Given the description of an element on the screen output the (x, y) to click on. 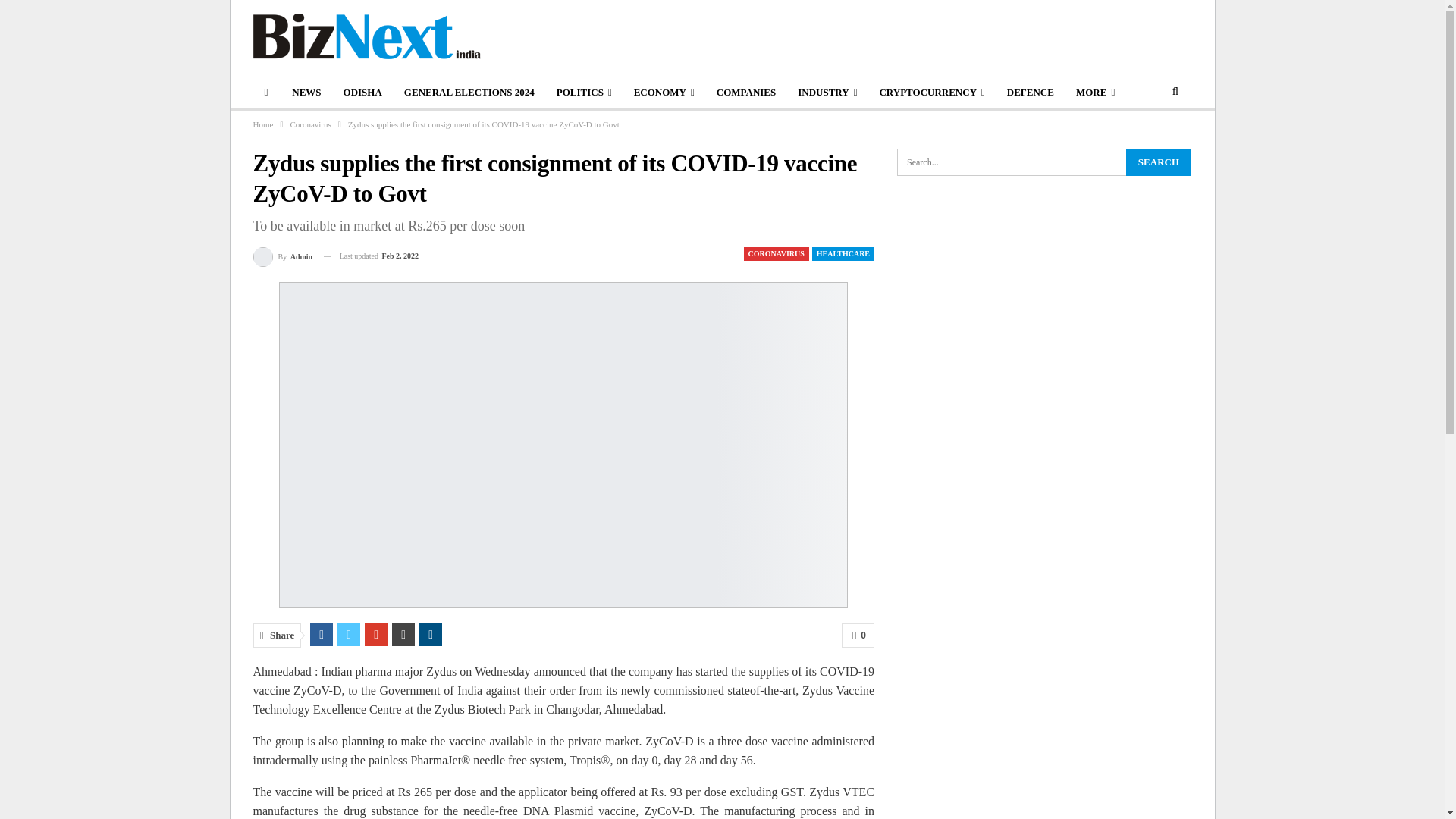
0 (858, 635)
Coronavirus (309, 124)
Search (1158, 162)
Browse Author Articles (283, 256)
COMPANIES (745, 92)
By Admin (283, 256)
CRYPTOCURRENCY (930, 92)
HEALTHCARE (843, 254)
Home (263, 124)
MORE (1095, 92)
ECONOMY (663, 92)
POLITICS (584, 92)
Search (1158, 162)
CORONAVIRUS (776, 254)
INDUSTRY (827, 92)
